Given the description of an element on the screen output the (x, y) to click on. 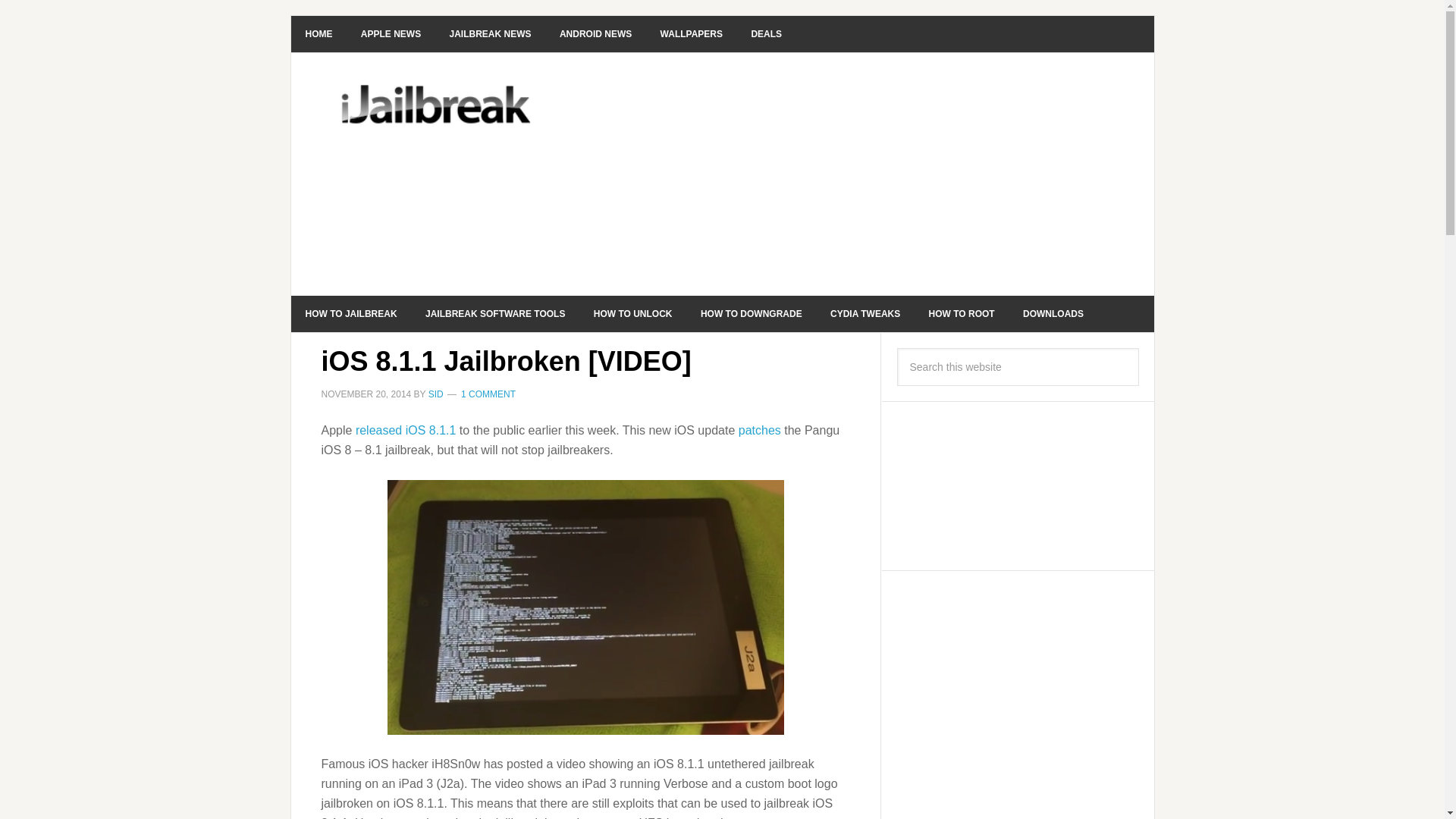
Latest Jailbreak News (490, 33)
WALLPAPERS (691, 33)
JAILBREAK SOFTWARE TOOLS (494, 313)
CYDIA TWEAKS (864, 313)
Advertisement (835, 173)
ANDROID NEWS (595, 33)
HOW TO DOWNGRADE (750, 313)
APPLE NEWS (390, 33)
JAILBREAK NEWS (490, 33)
